Given the description of an element on the screen output the (x, y) to click on. 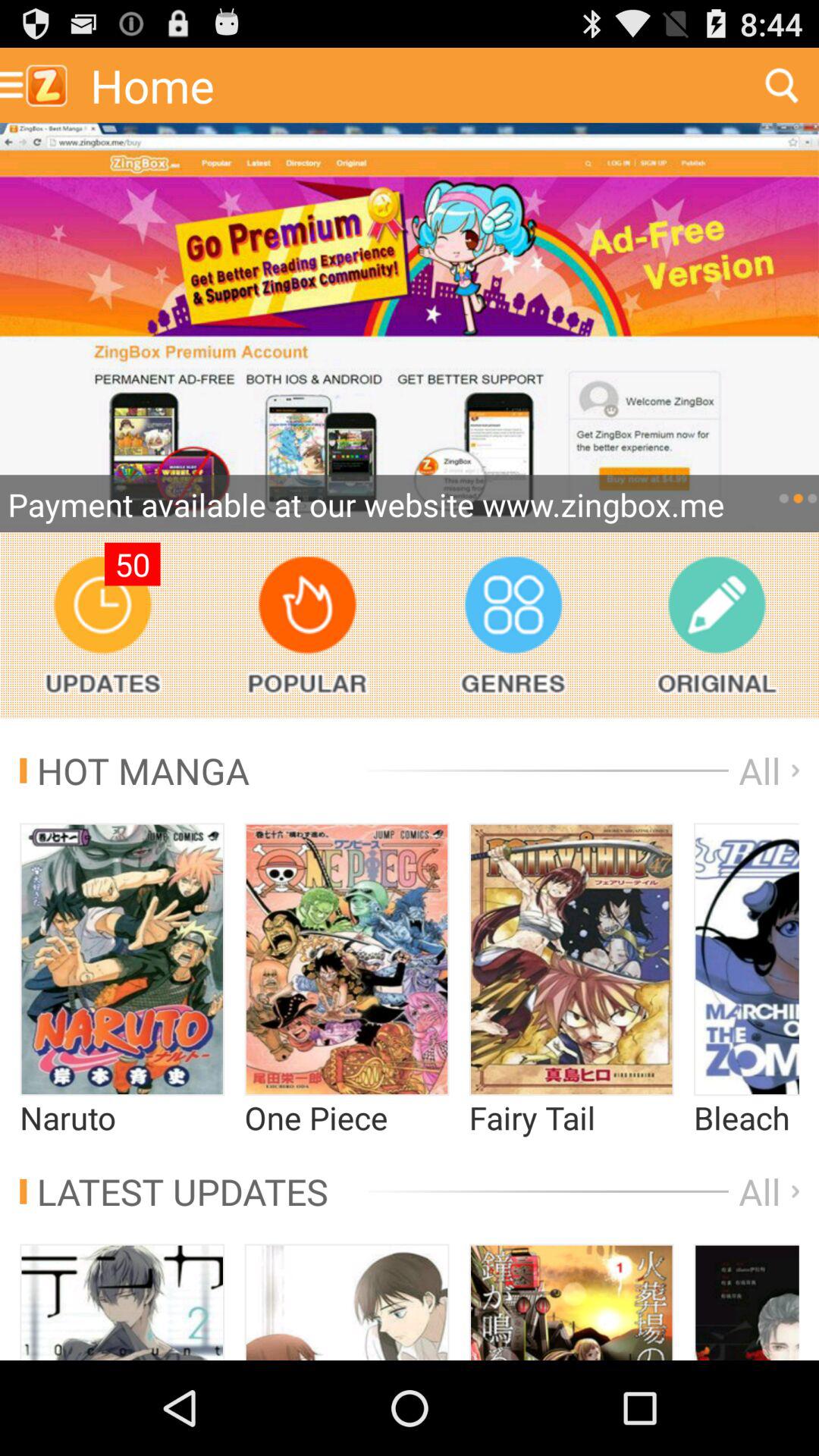
update (101, 625)
